Given the description of an element on the screen output the (x, y) to click on. 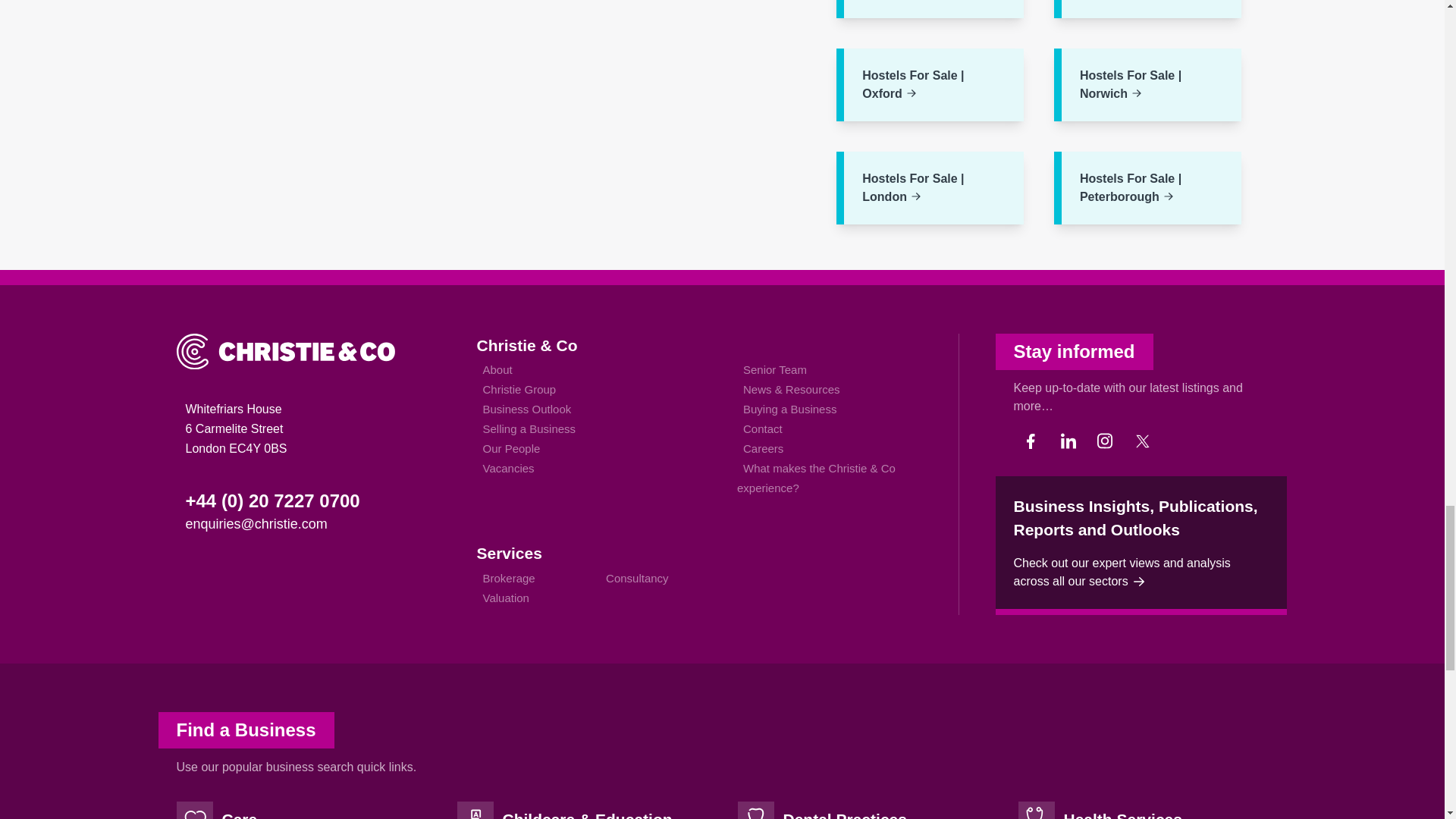
Selling a Business (528, 428)
About (497, 369)
Business Outlook (526, 408)
Senior Team (774, 369)
Buying a Business (789, 408)
Christie Group (519, 389)
